Given the description of an element on the screen output the (x, y) to click on. 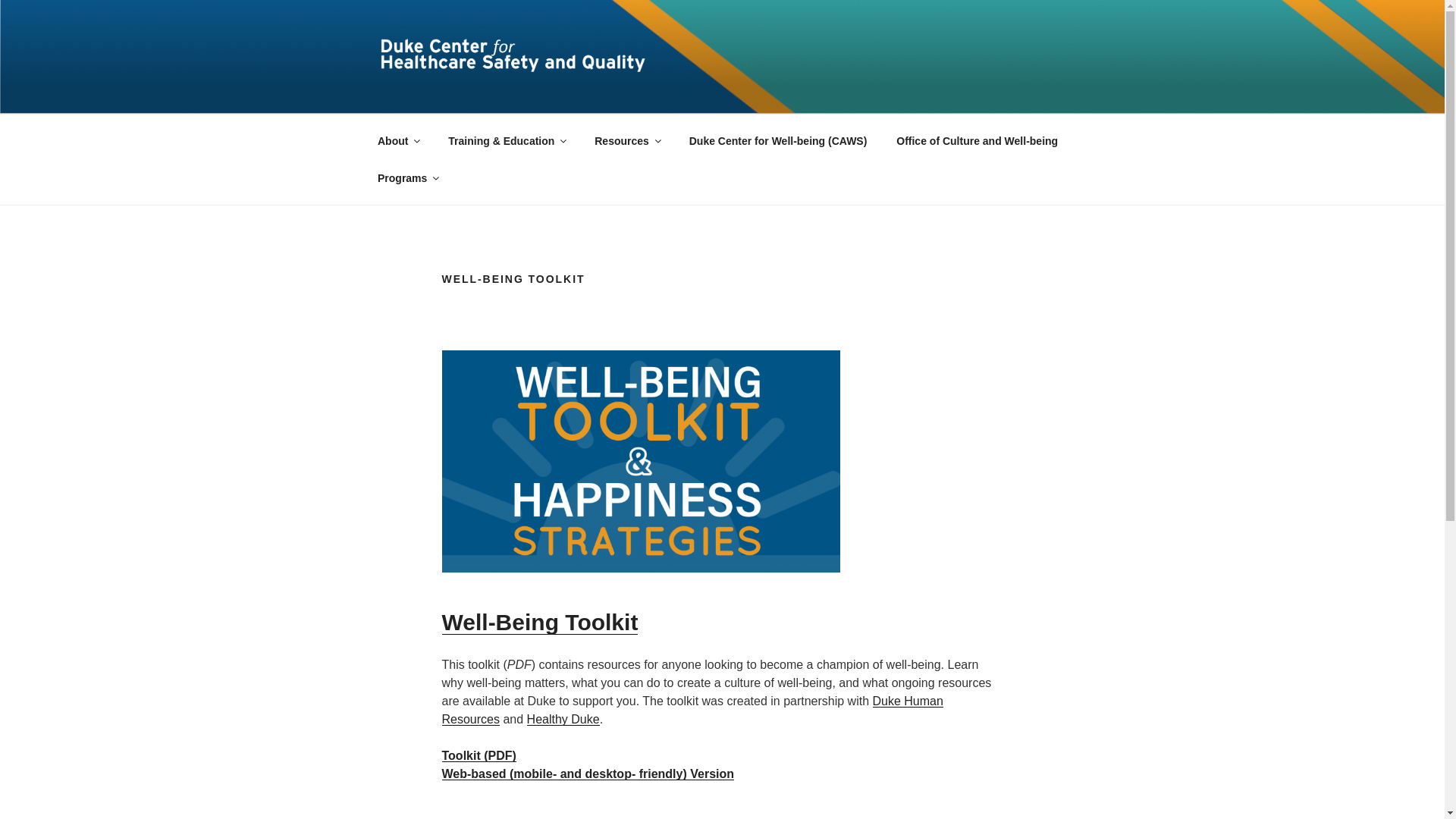
Programs (406, 178)
Duke Human Resources (691, 709)
DUKE CENTER FOR HEALTHCARE SAFETY AND QUALITY (737, 111)
About (397, 140)
Office of Culture and Well-being (977, 140)
Resources (626, 140)
Healthy Duke (563, 718)
Well-Being Toolkit (539, 621)
